Given the description of an element on the screen output the (x, y) to click on. 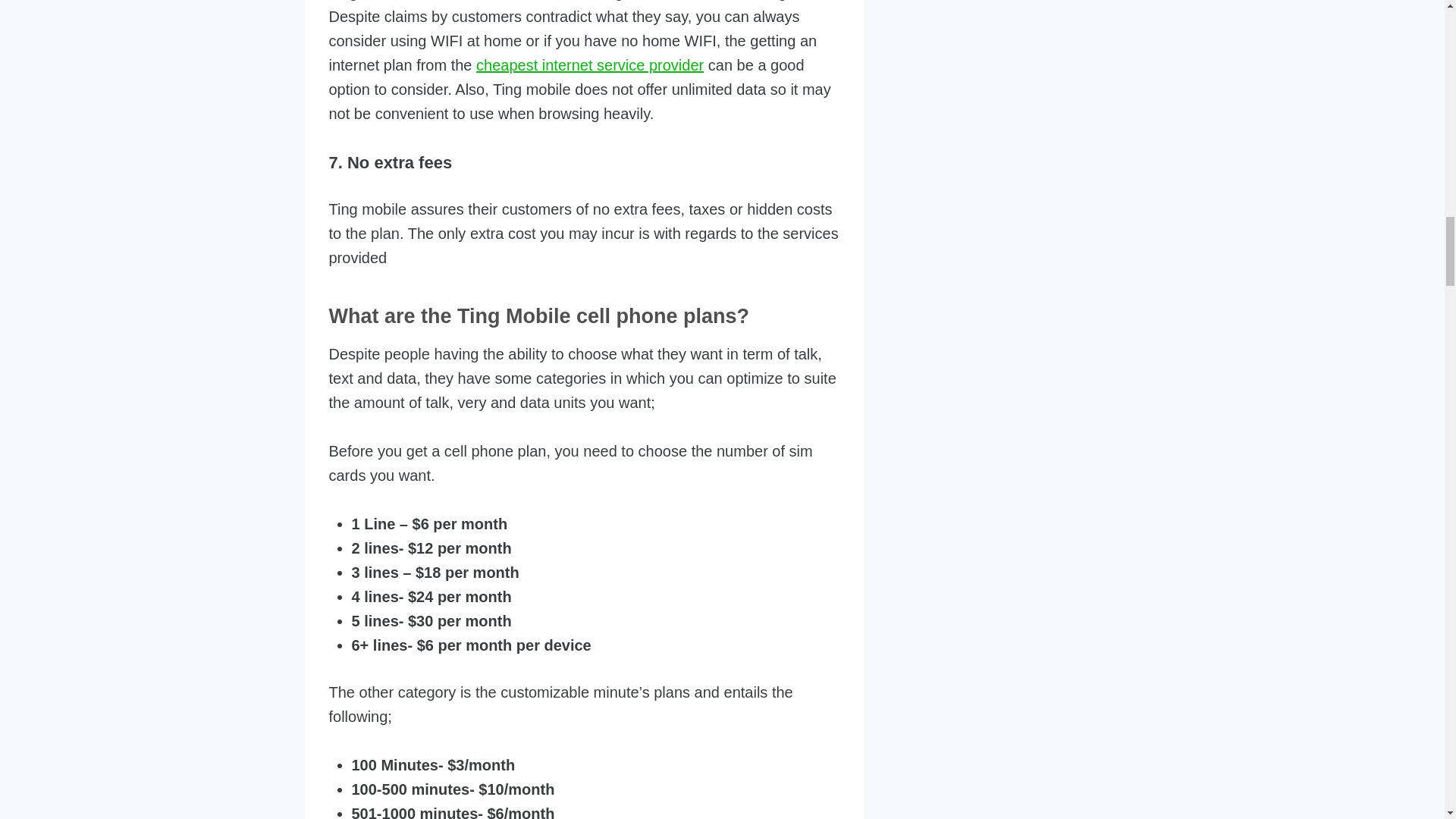
cheapest internet service provider (589, 64)
